Given the description of an element on the screen output the (x, y) to click on. 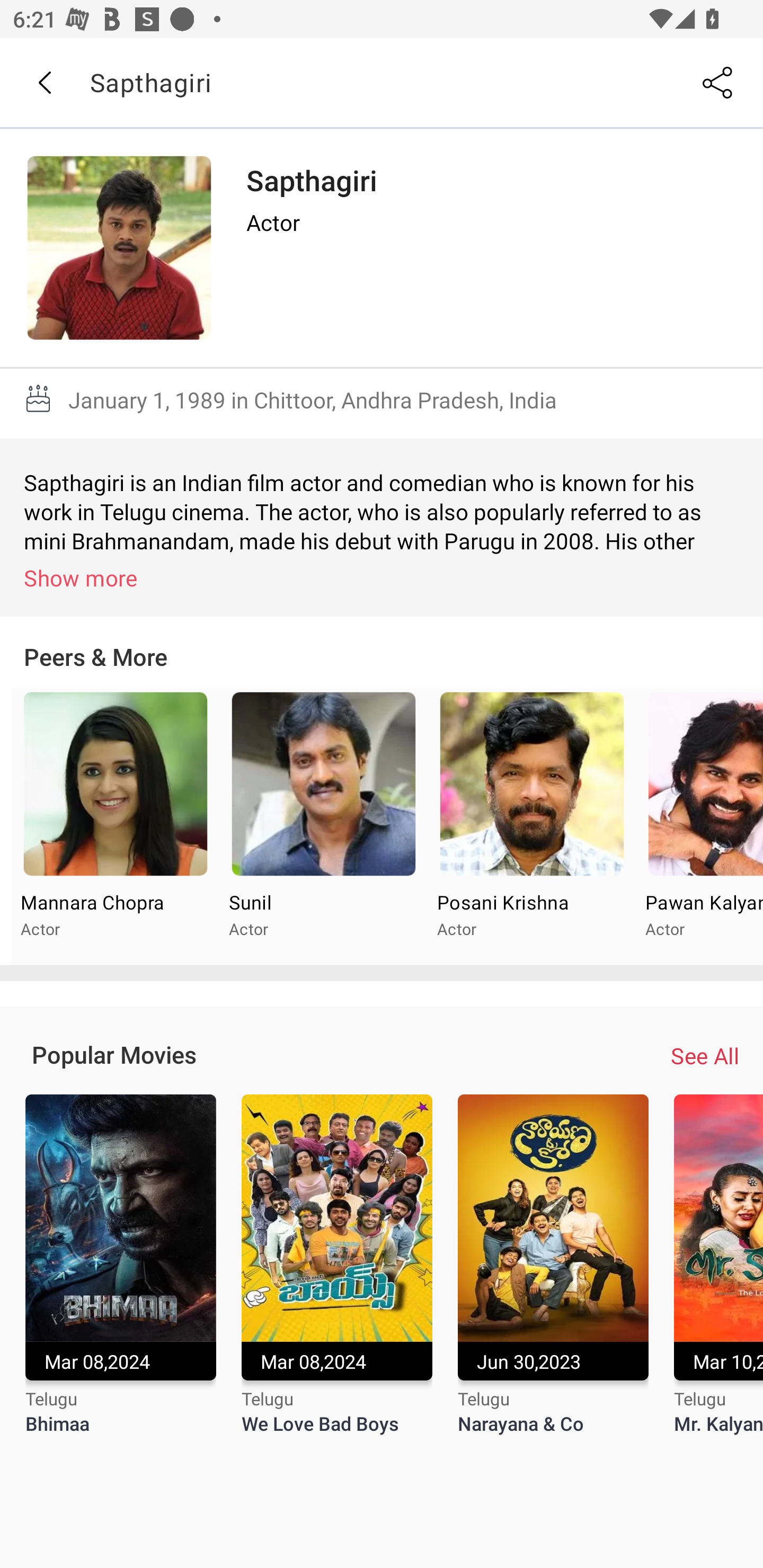
Back (44, 82)
Show more (384, 577)
Mannara Chopra Actor (115, 826)
Sunil Actor (323, 826)
Posani Krishna Murali Actor (531, 826)
Pawan Kalyan Actor (699, 826)
See All (704, 1055)
Mar 08,2024 Telugu Bhimaa (120, 1276)
Mar 08,2024 Telugu We Love Bad Boys (336, 1276)
Jun 30,2023 Telugu Narayana & Co (552, 1276)
